Given the description of an element on the screen output the (x, y) to click on. 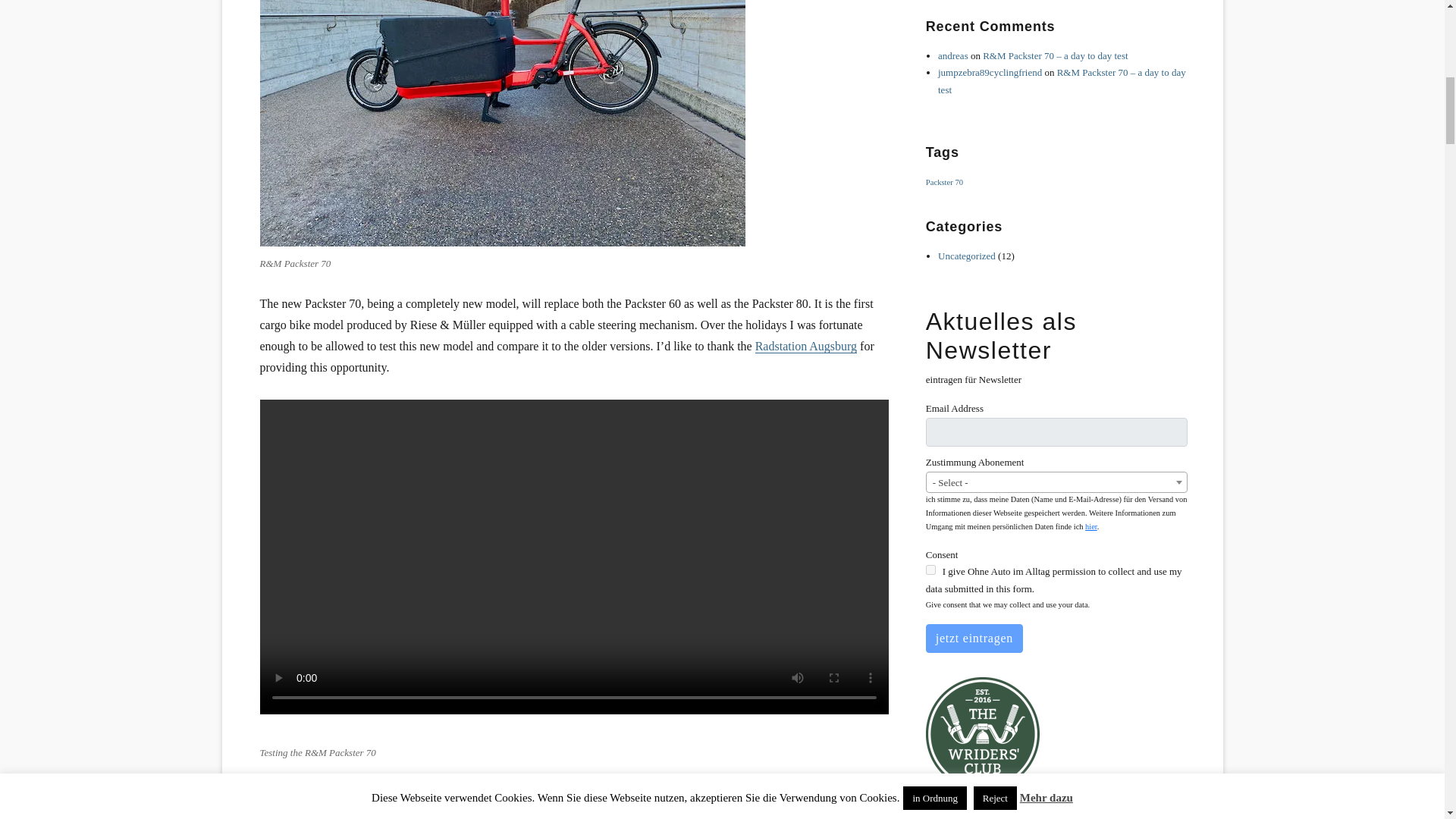
hier (1090, 526)
- Select - (1057, 482)
jumpzebra89cyclingfriend (989, 71)
jetzt eintragen (974, 638)
4 (931, 569)
Packster 70 (944, 182)
Uncategorized (966, 255)
Radstation Augsburg (806, 345)
andreas (952, 55)
